Given the description of an element on the screen output the (x, y) to click on. 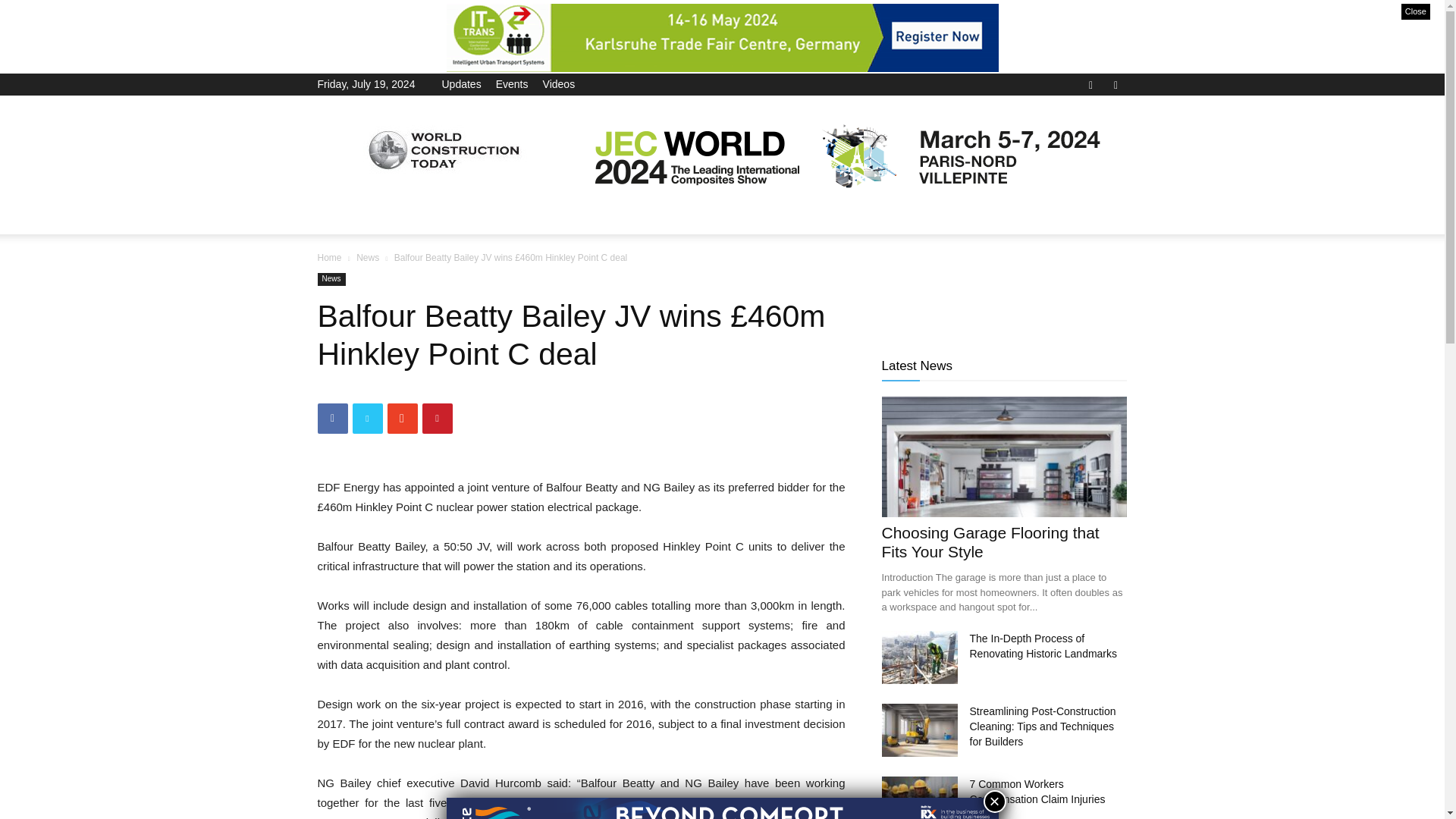
Videos (559, 82)
HOME (343, 215)
NEWS (402, 215)
Linkedin (1114, 83)
Updates (460, 82)
Events (512, 82)
Facebook (1090, 83)
